Given the description of an element on the screen output the (x, y) to click on. 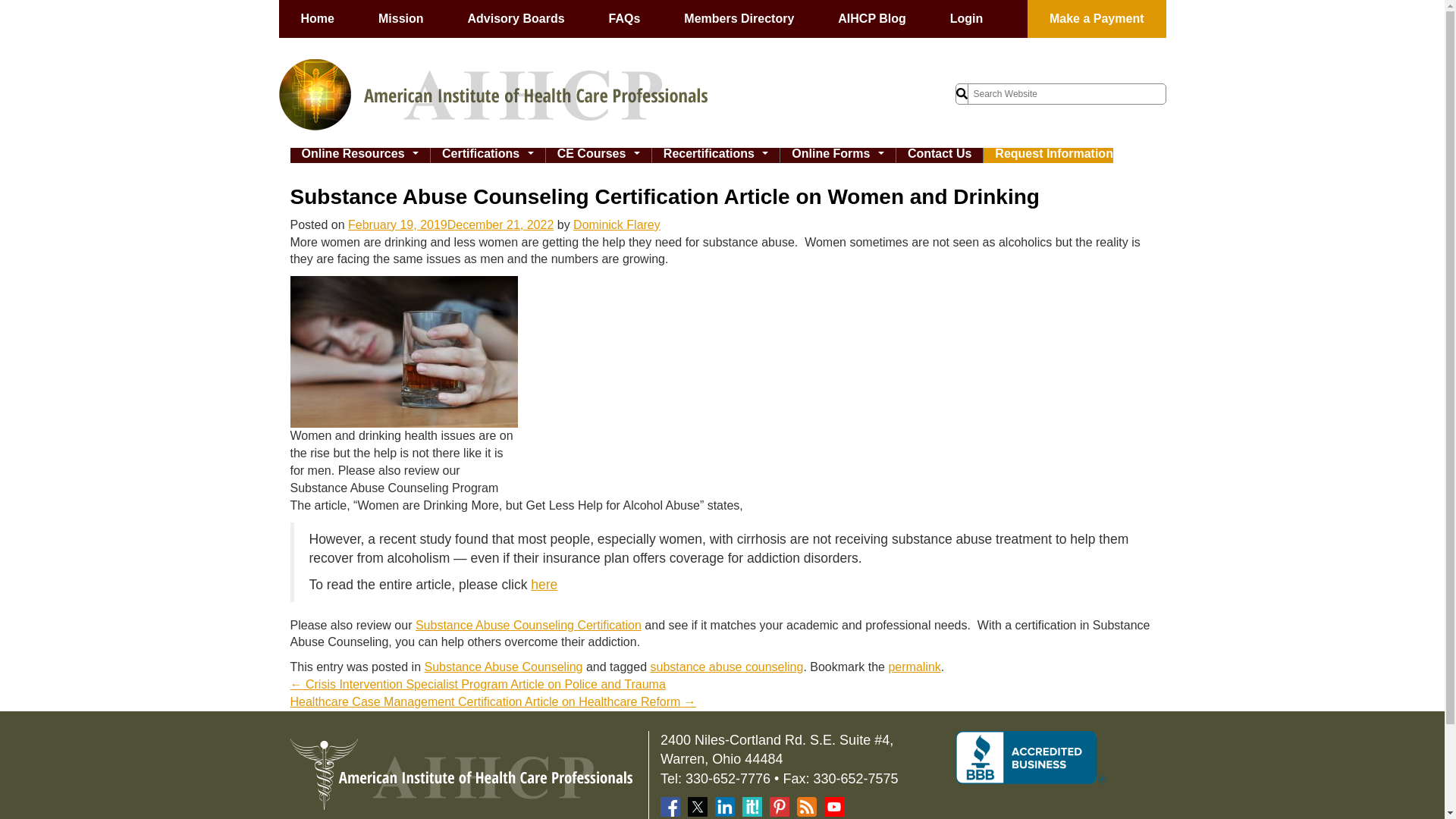
Members Directory (738, 18)
Login (967, 18)
Advisory Boards (515, 18)
Members Directory (738, 18)
Home (317, 18)
Mission (400, 18)
Home (317, 18)
Make a Payment (1096, 18)
AIHCP Blog (871, 18)
Advisory Boards (515, 18)
